Given the description of an element on the screen output the (x, y) to click on. 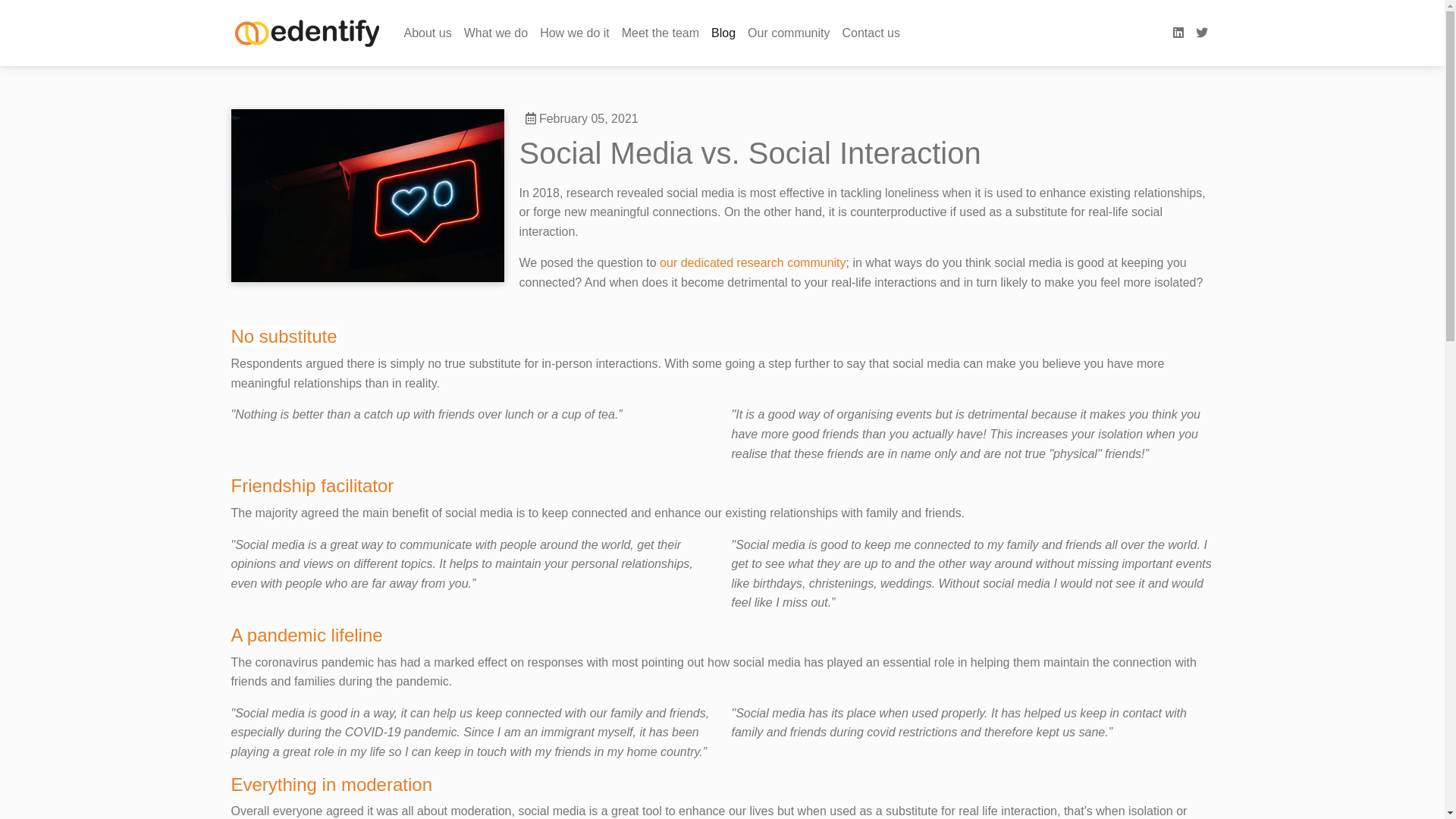
Contact us Element type: text (871, 33)
About us Element type: text (427, 33)
our dedicated research community Element type: text (752, 262)
Our community Element type: text (788, 33)
What we do Element type: text (495, 33)
Meet the team Element type: text (660, 33)
How we do it Element type: text (574, 33)
Blog Element type: text (723, 33)
